Given the description of an element on the screen output the (x, y) to click on. 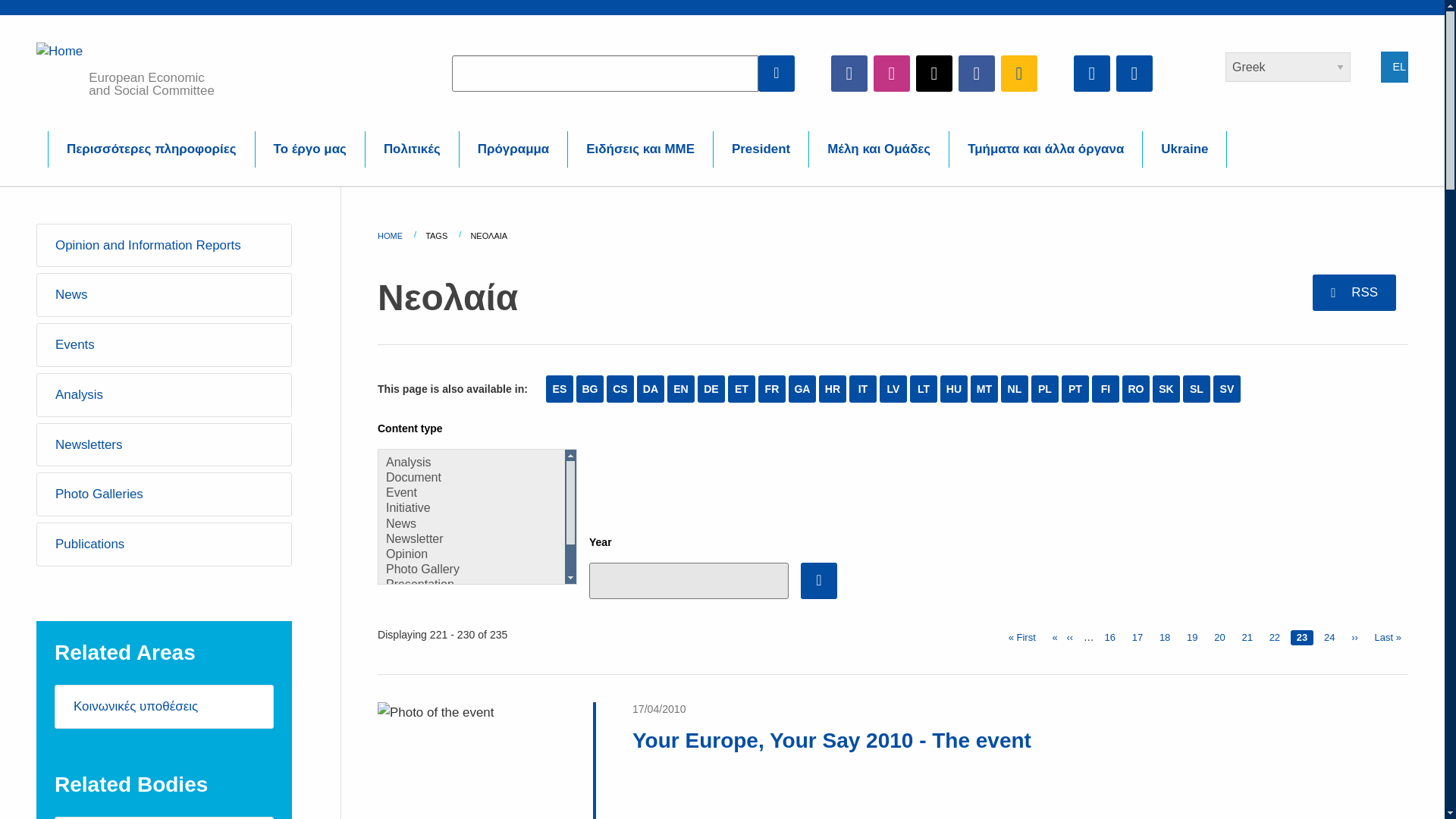
Apply (818, 580)
Apply (776, 72)
